Given the description of an element on the screen output the (x, y) to click on. 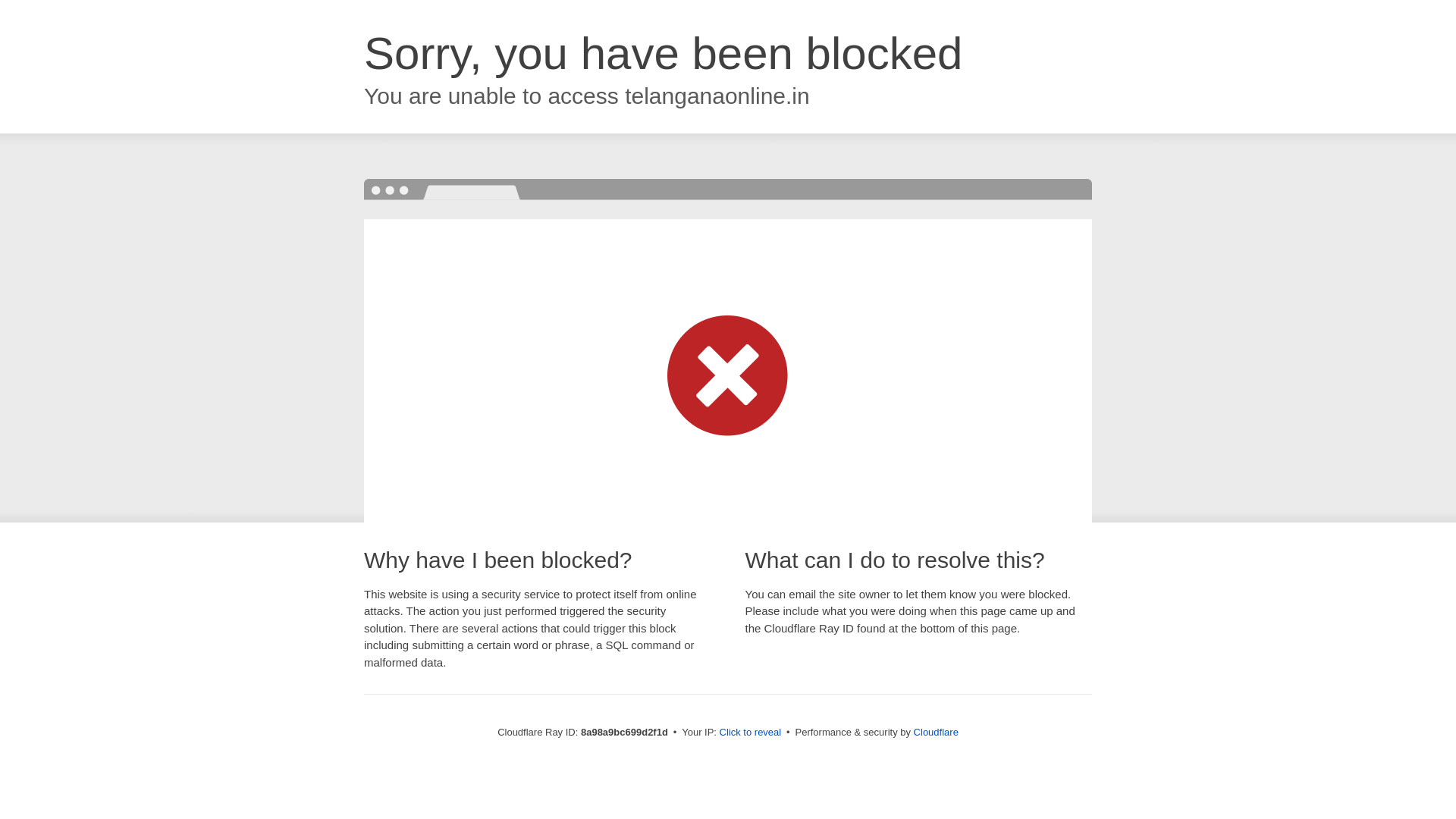
Cloudflare (936, 731)
Click to reveal (750, 732)
